Given the description of an element on the screen output the (x, y) to click on. 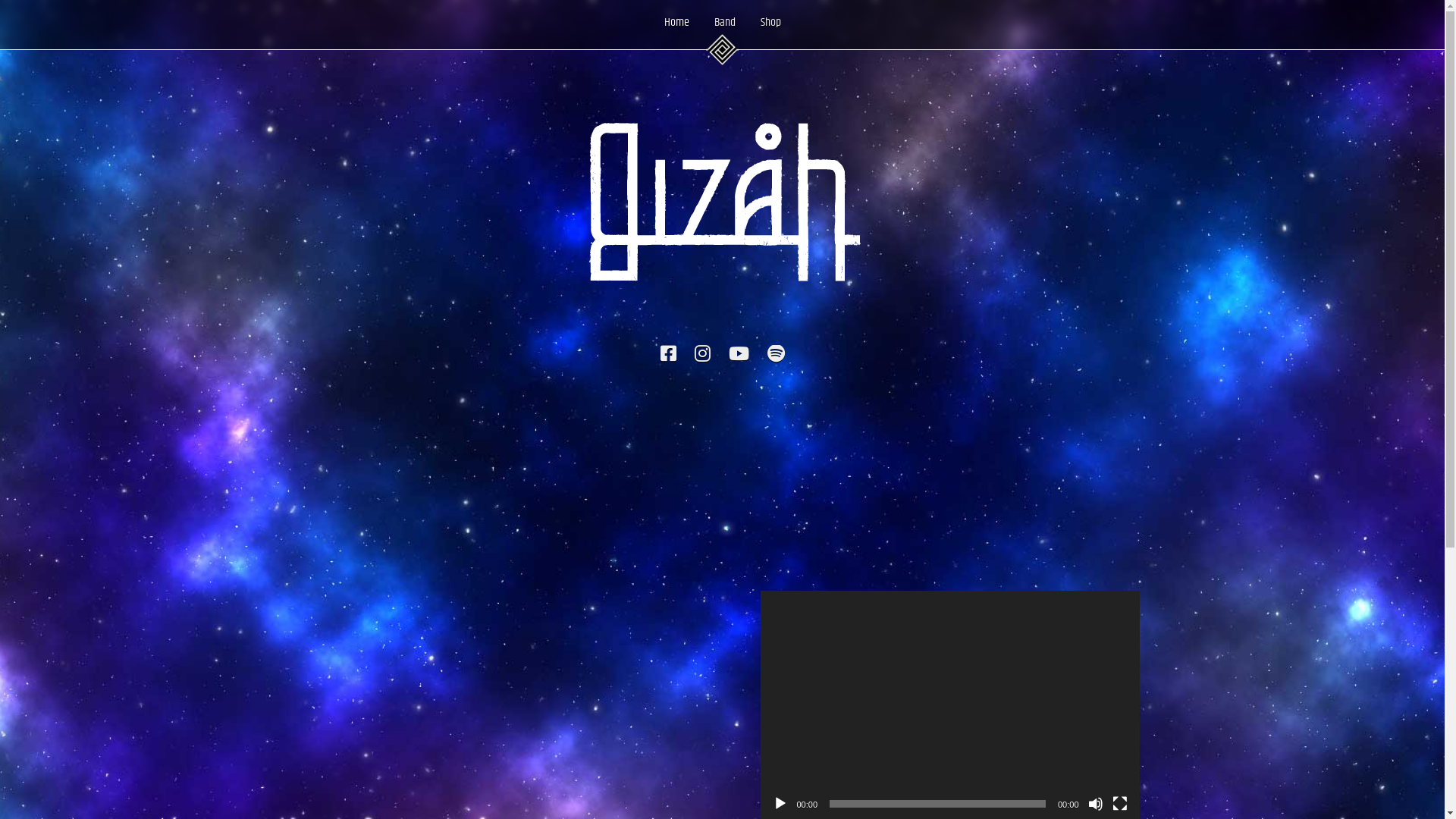
Fullscreen Element type: hover (1118, 803)
Instagram Element type: text (702, 356)
Shop Element type: text (770, 22)
Home Element type: text (675, 22)
Mute Element type: hover (1094, 803)
YouTube Element type: text (738, 356)
Facebook Element type: text (667, 356)
Spotify Element type: text (775, 356)
Band Element type: text (724, 22)
Play Element type: hover (779, 803)
